Given the description of an element on the screen output the (x, y) to click on. 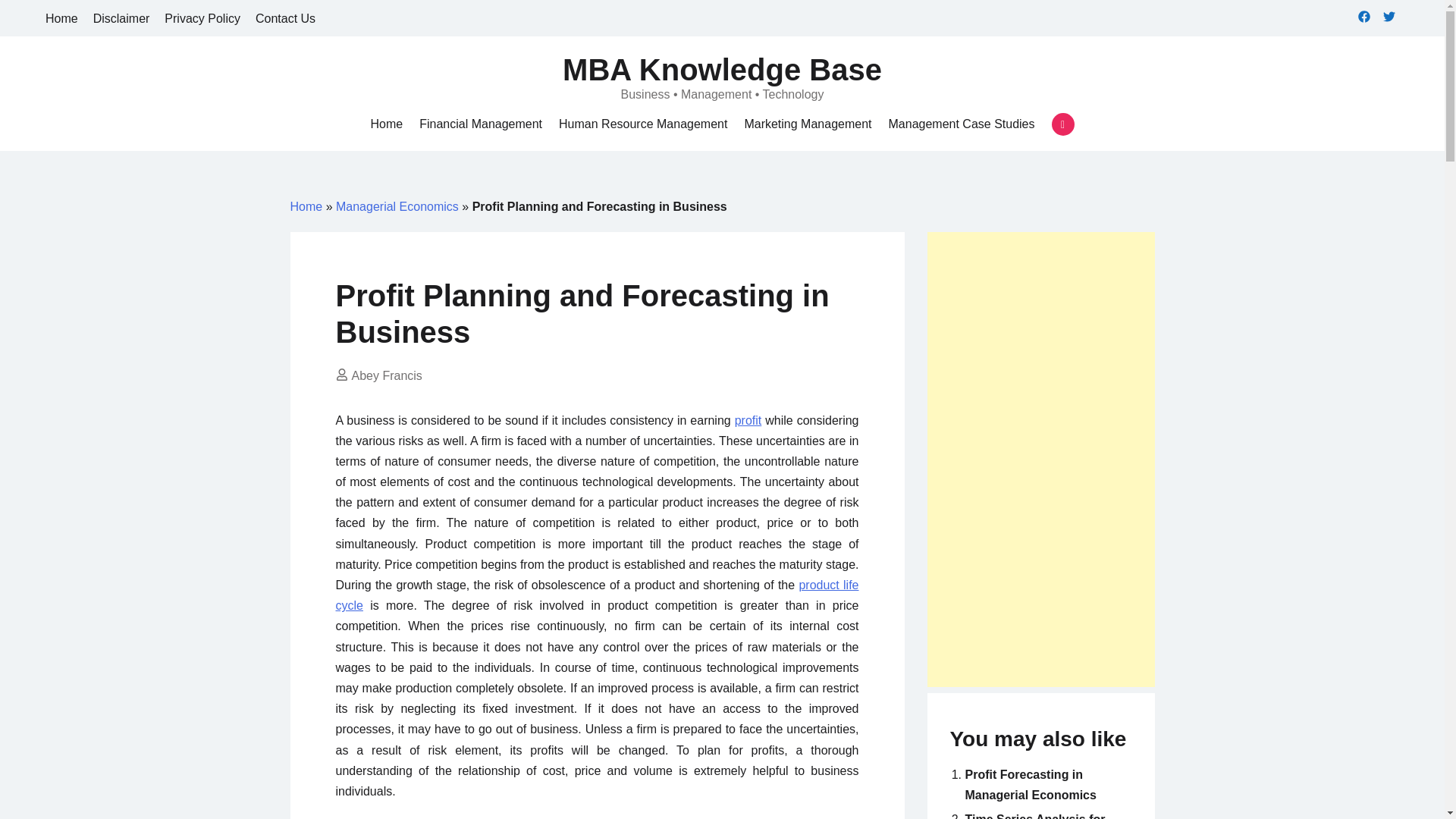
Home (386, 123)
Home (386, 123)
Abey Francis (387, 375)
MBA Knowledge Base (722, 69)
Financial Management (480, 123)
Product life cycle (596, 594)
Disclaimer (121, 18)
product life cycle (596, 594)
Human Resource Management (642, 123)
Home (305, 205)
